Given the description of an element on the screen output the (x, y) to click on. 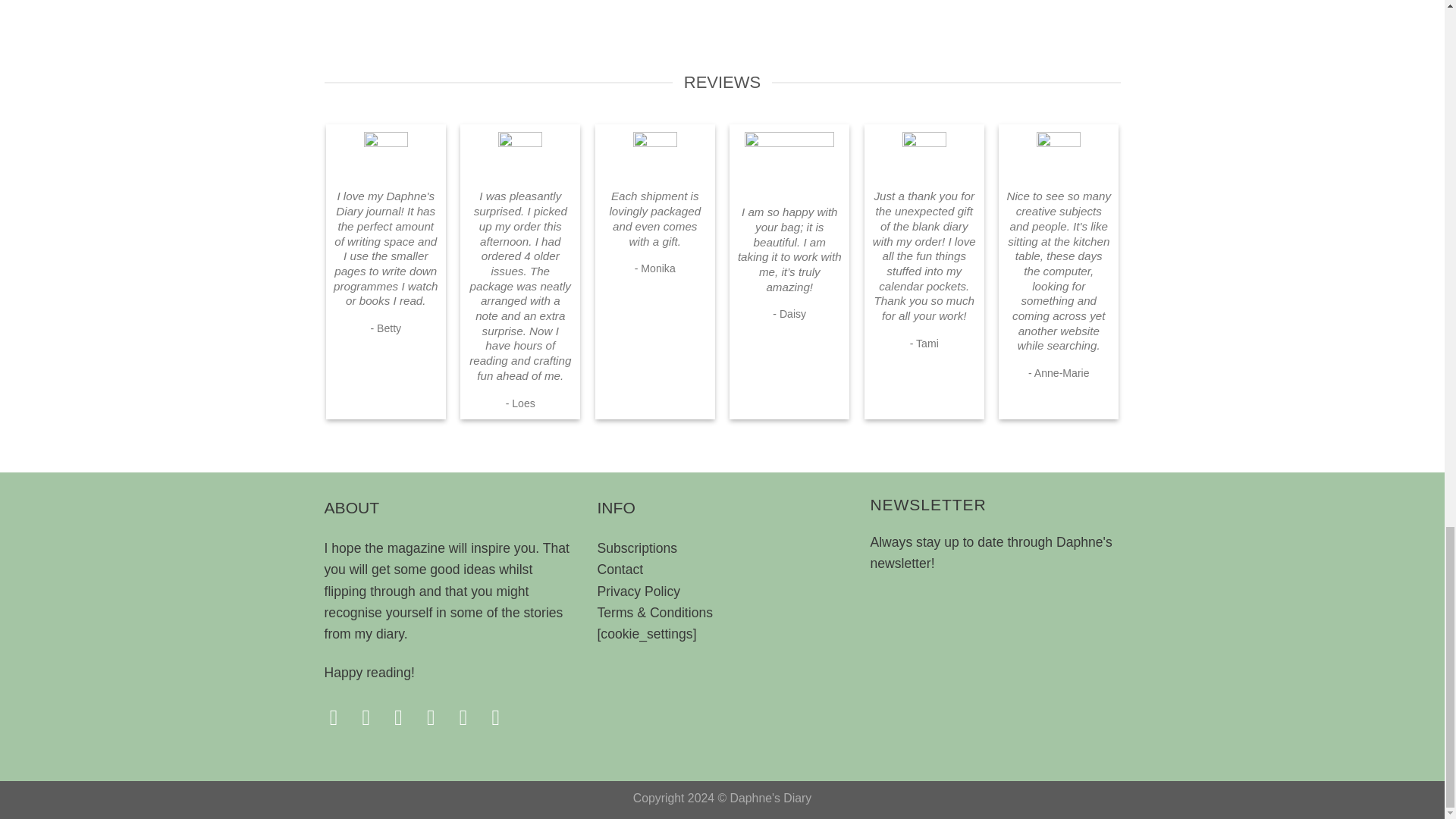
Send us an email (437, 717)
Follow on Facebook (341, 717)
Follow on Pinterest (470, 717)
Follow on Instagram (372, 717)
Follow on TikTok (405, 717)
